Given the description of an element on the screen output the (x, y) to click on. 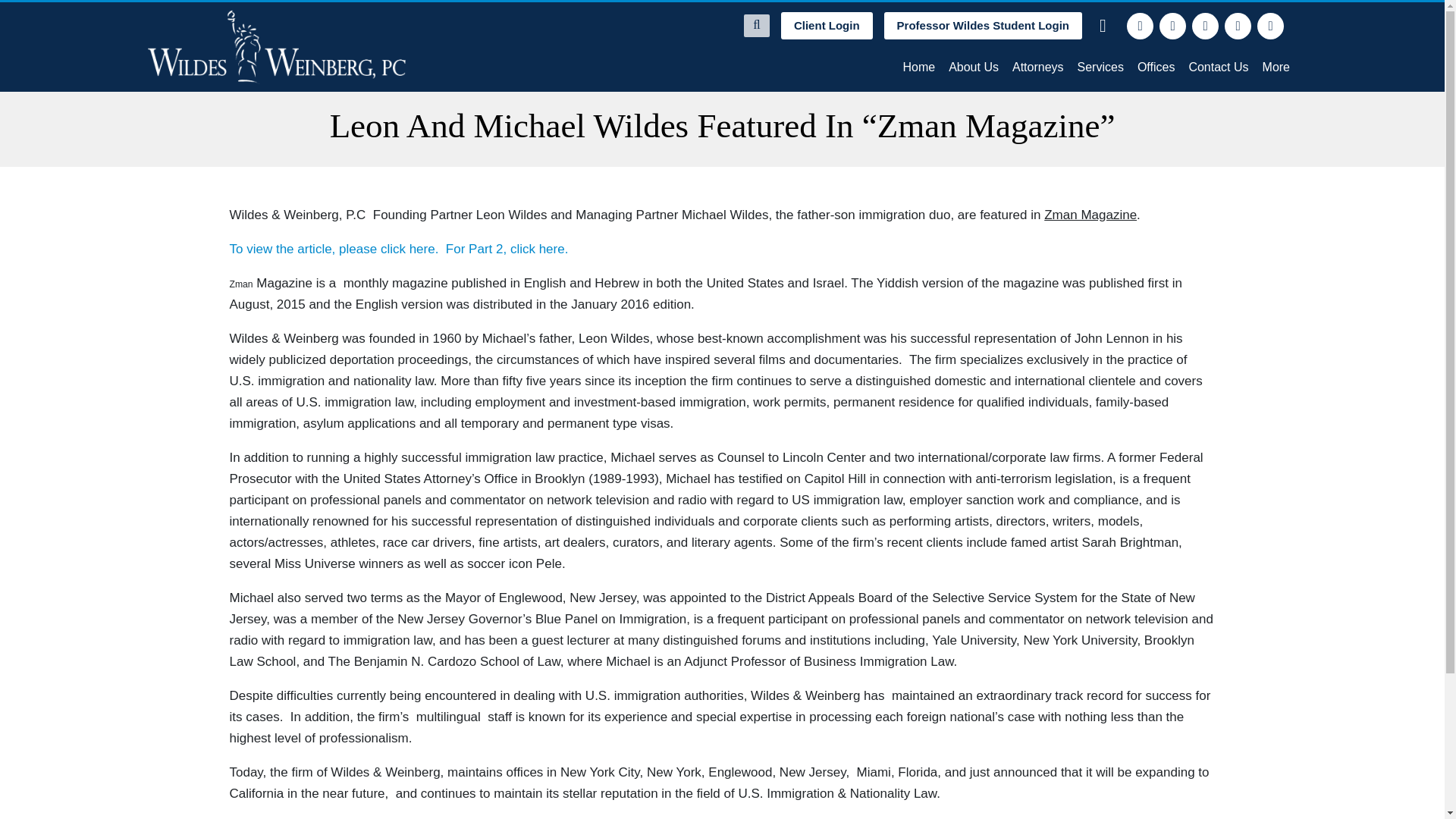
Attorneys (1038, 67)
Home (918, 67)
Professor Wildes Student Login (982, 25)
instagram (1237, 26)
youtube (1270, 26)
Client Login (826, 25)
facebook (1139, 26)
twitter (1172, 26)
About Us (974, 67)
linkedin (1205, 26)
Services (1100, 67)
